Given the description of an element on the screen output the (x, y) to click on. 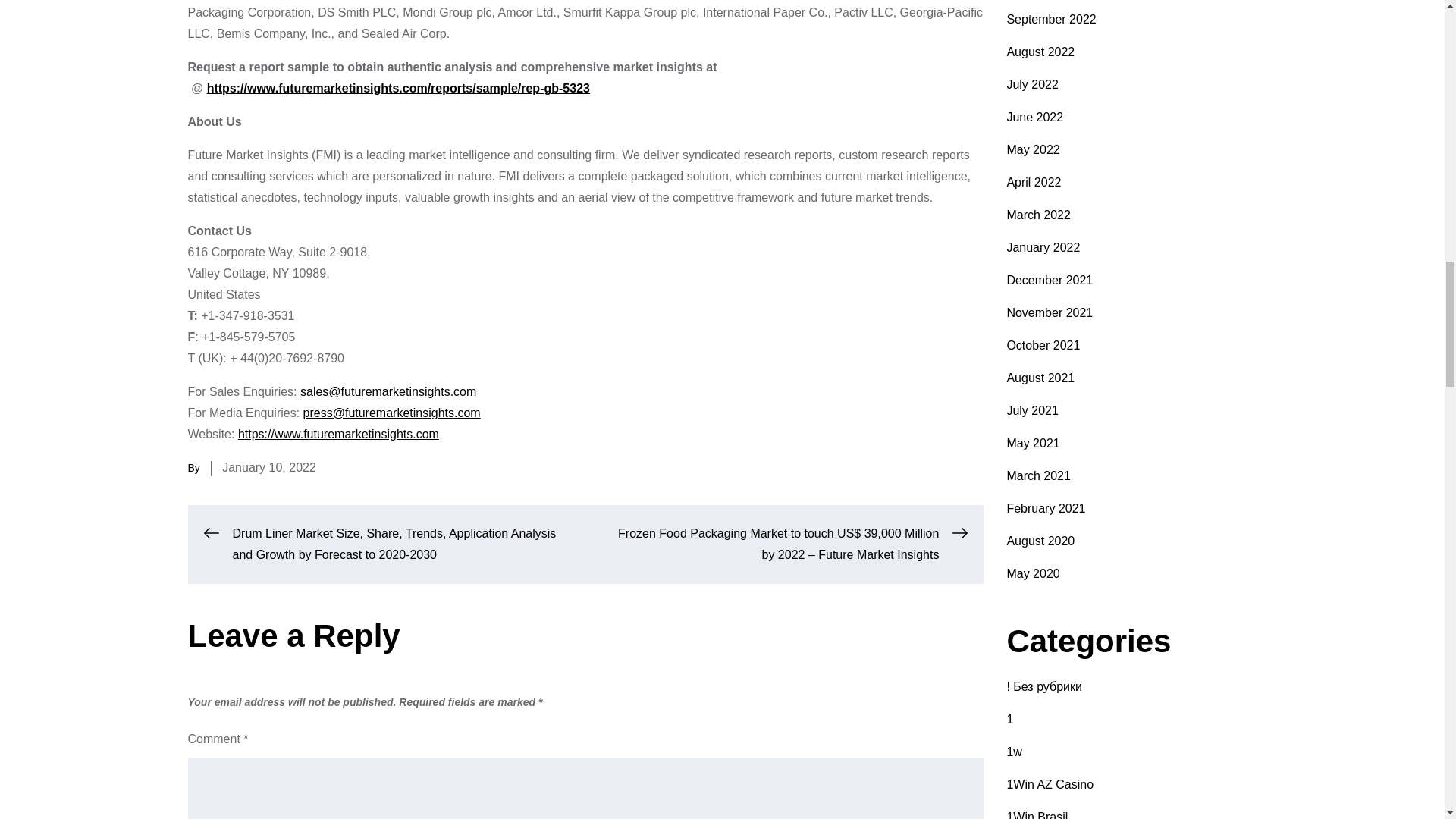
January 10, 2022 (268, 467)
